Given the description of an element on the screen output the (x, y) to click on. 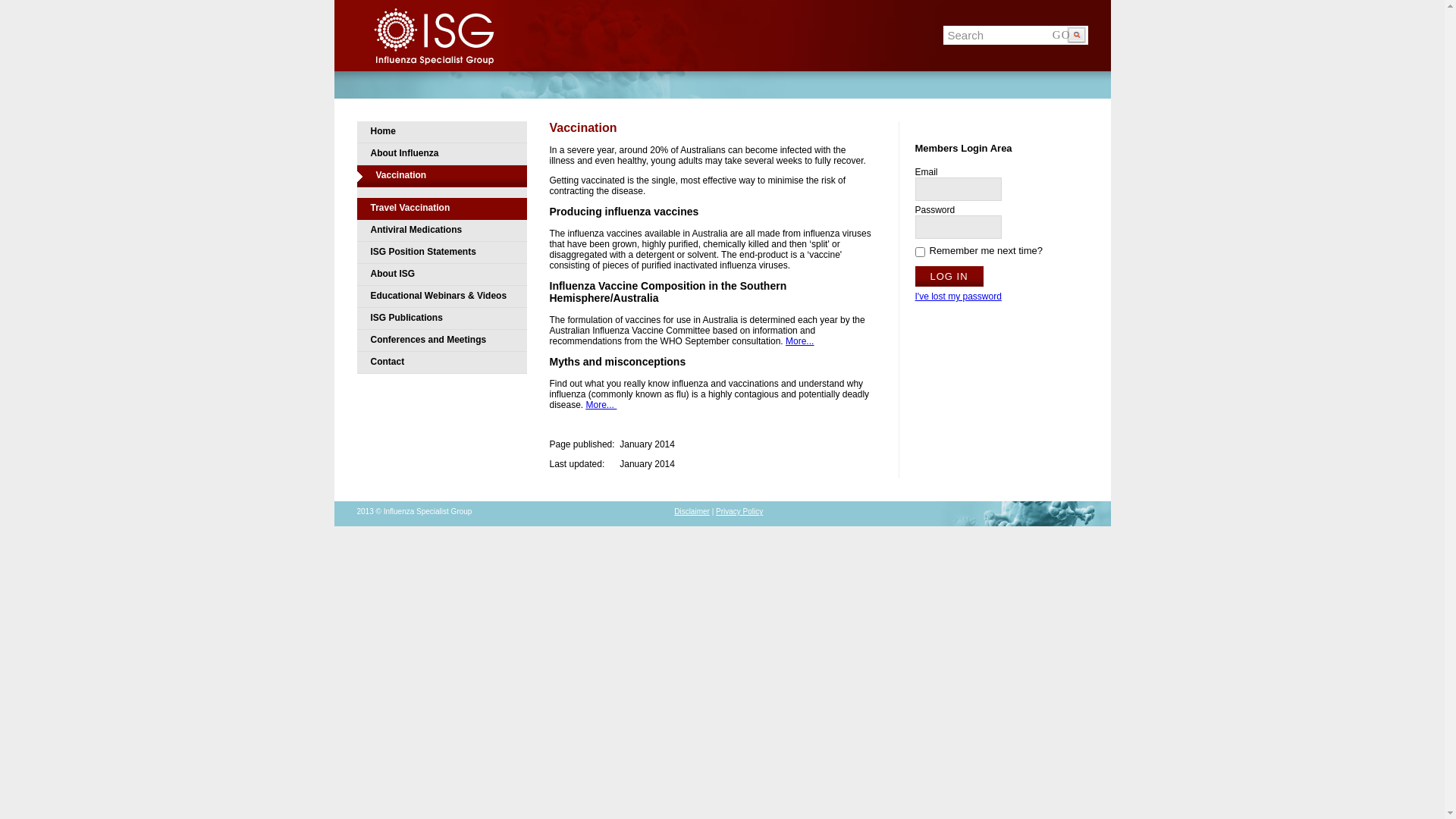
More...  Element type: text (601, 404)
Antiviral Medications Element type: text (441, 230)
About ISG Element type: text (441, 274)
Travel Vaccination Element type: text (441, 208)
Log in Element type: text (948, 276)
More... Element type: text (799, 340)
Educational Webinars & Videos Element type: text (441, 296)
Privacy Policy Element type: text (738, 511)
Conferences and Meetings Element type: text (441, 340)
ISG Publications Element type: text (441, 318)
I've lost my password Element type: text (957, 296)
Contact Element type: text (441, 362)
Disclaimer Element type: text (691, 511)
Home Element type: text (441, 132)
Vaccination Element type: text (441, 176)
About Influenza Element type: text (441, 154)
Go Element type: text (1066, 34)
ISG Position Statements Element type: text (441, 252)
